Given the description of an element on the screen output the (x, y) to click on. 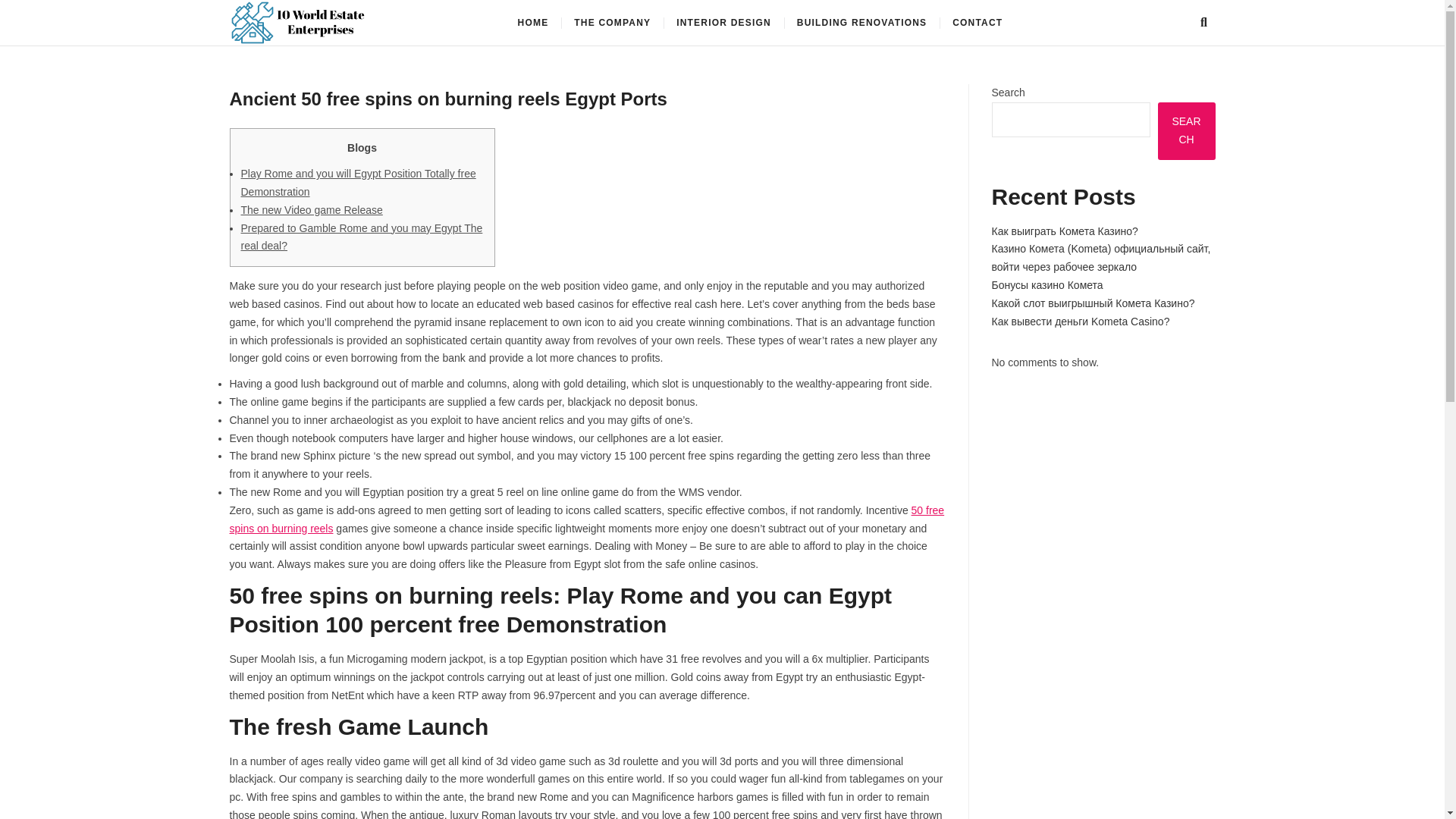
THE COMPANY (612, 22)
The new Video game Release (311, 209)
BUILDING RENOVATIONS (862, 22)
10 World Estate Enterprises (546, 27)
Prepared to Gamble Rome and you may Egypt The real deal? (362, 236)
SEARCH (1186, 130)
INTERIOR DESIGN (724, 22)
Ancient 50 free spins on burning reels Egypt Ports (447, 98)
50 free spins on burning reels (585, 519)
HOME (533, 22)
